Given the description of an element on the screen output the (x, y) to click on. 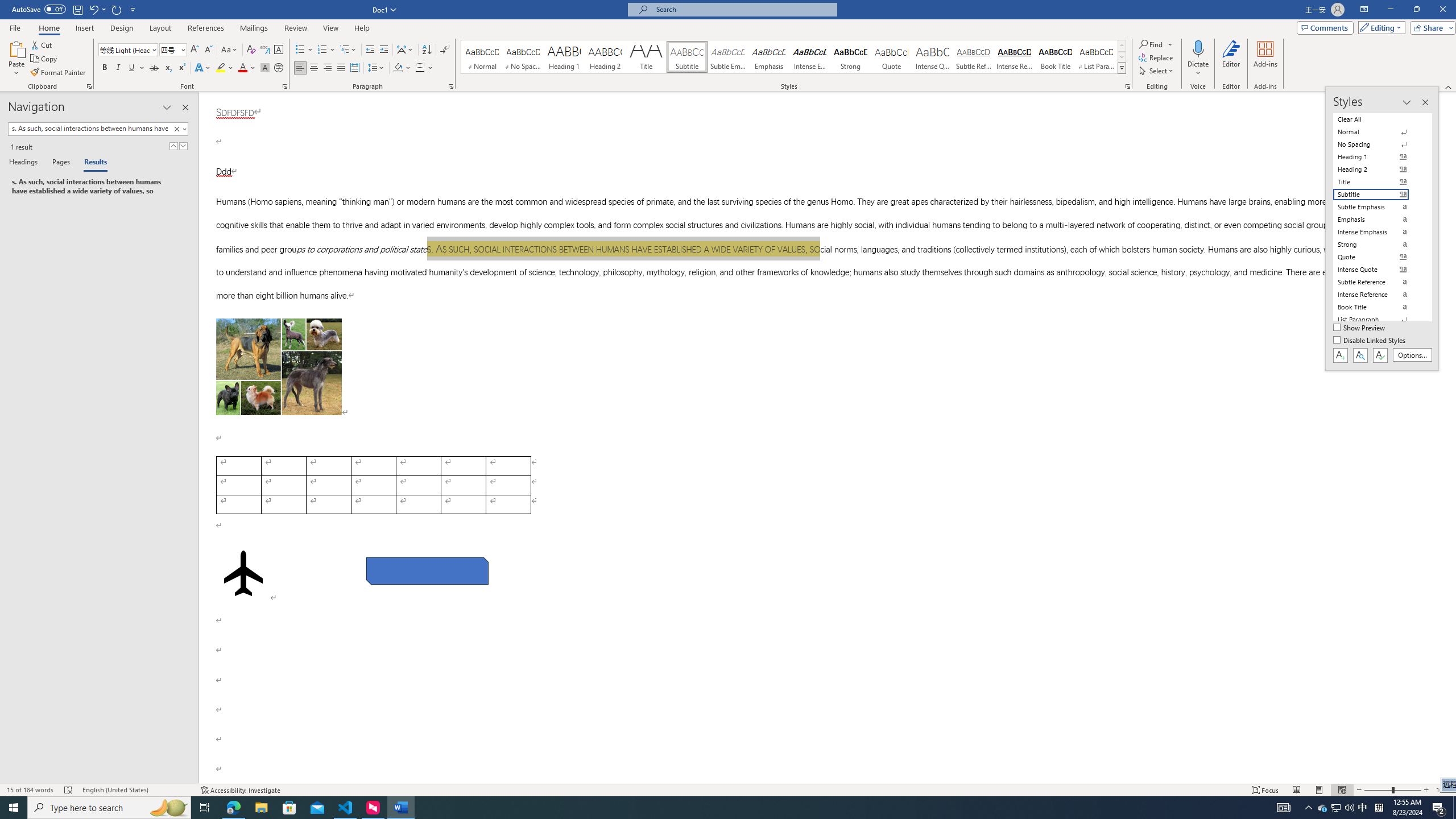
References (205, 28)
Class: MsoCommandBar (728, 45)
